Given the description of an element on the screen output the (x, y) to click on. 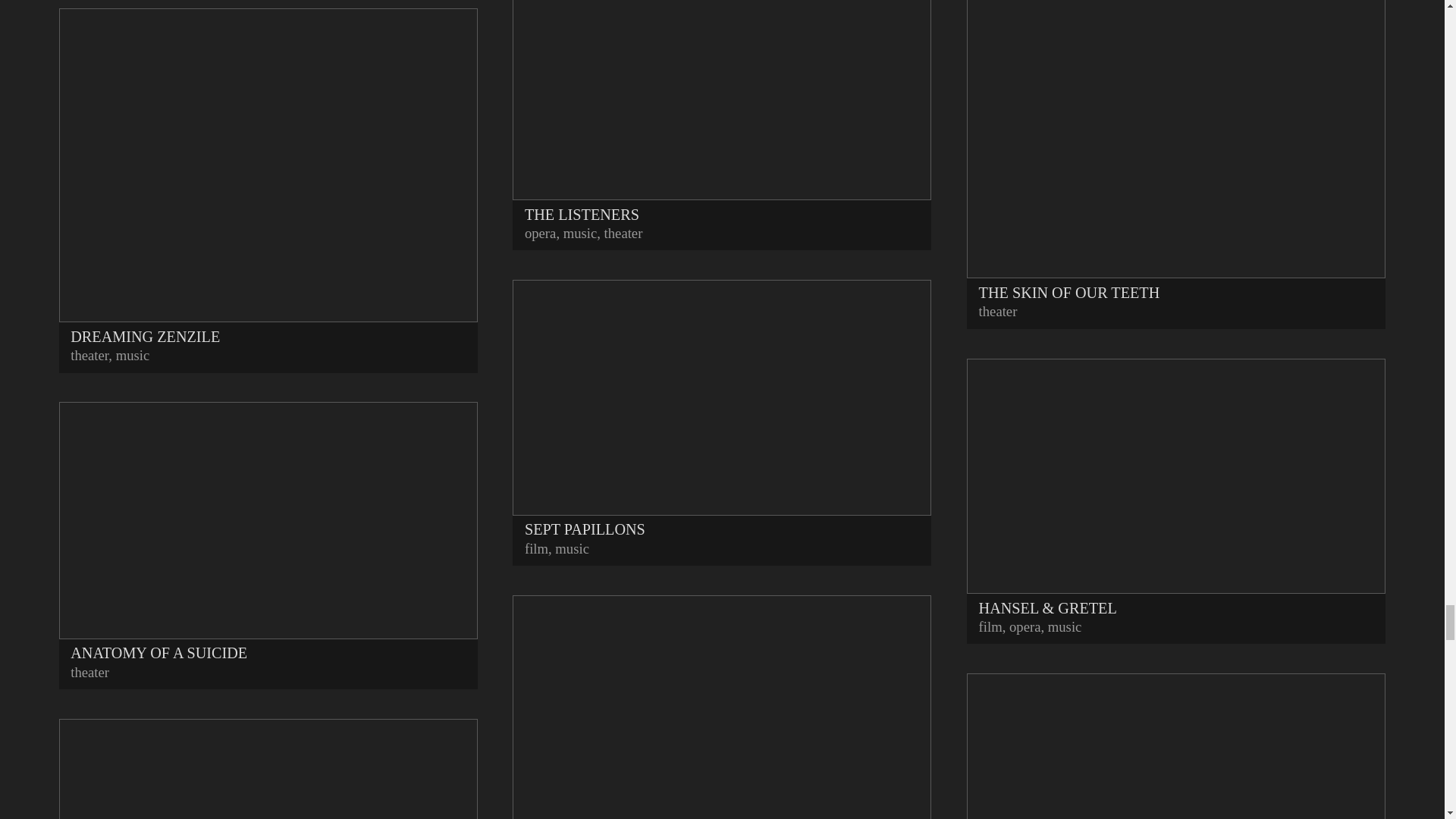
theater (89, 672)
ANATOMY OF A SUICIDE (268, 532)
music (132, 355)
THE MAGIC FLUTE (268, 769)
theater (88, 355)
